Given the description of an element on the screen output the (x, y) to click on. 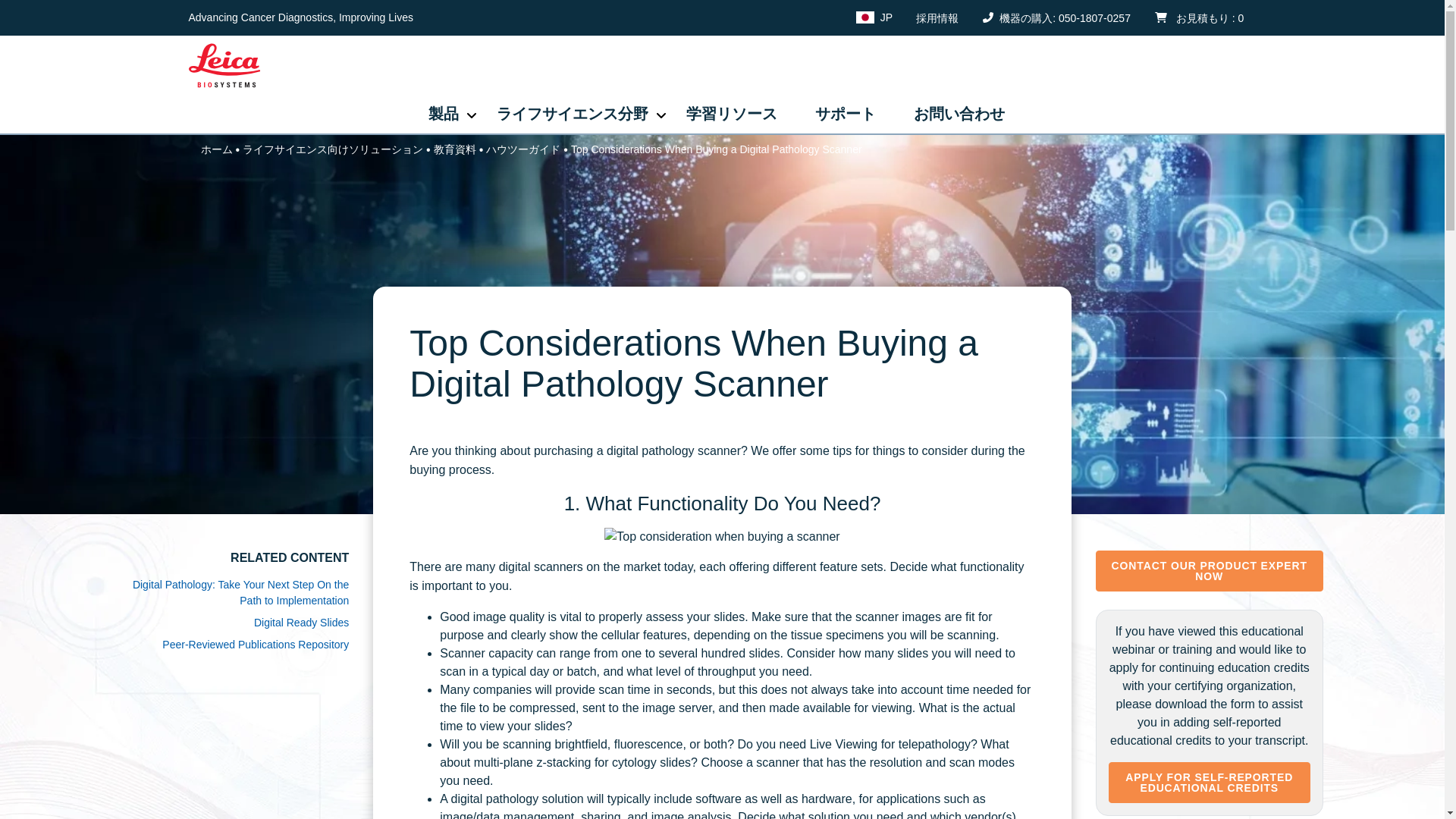
JP (877, 17)
